Given the description of an element on the screen output the (x, y) to click on. 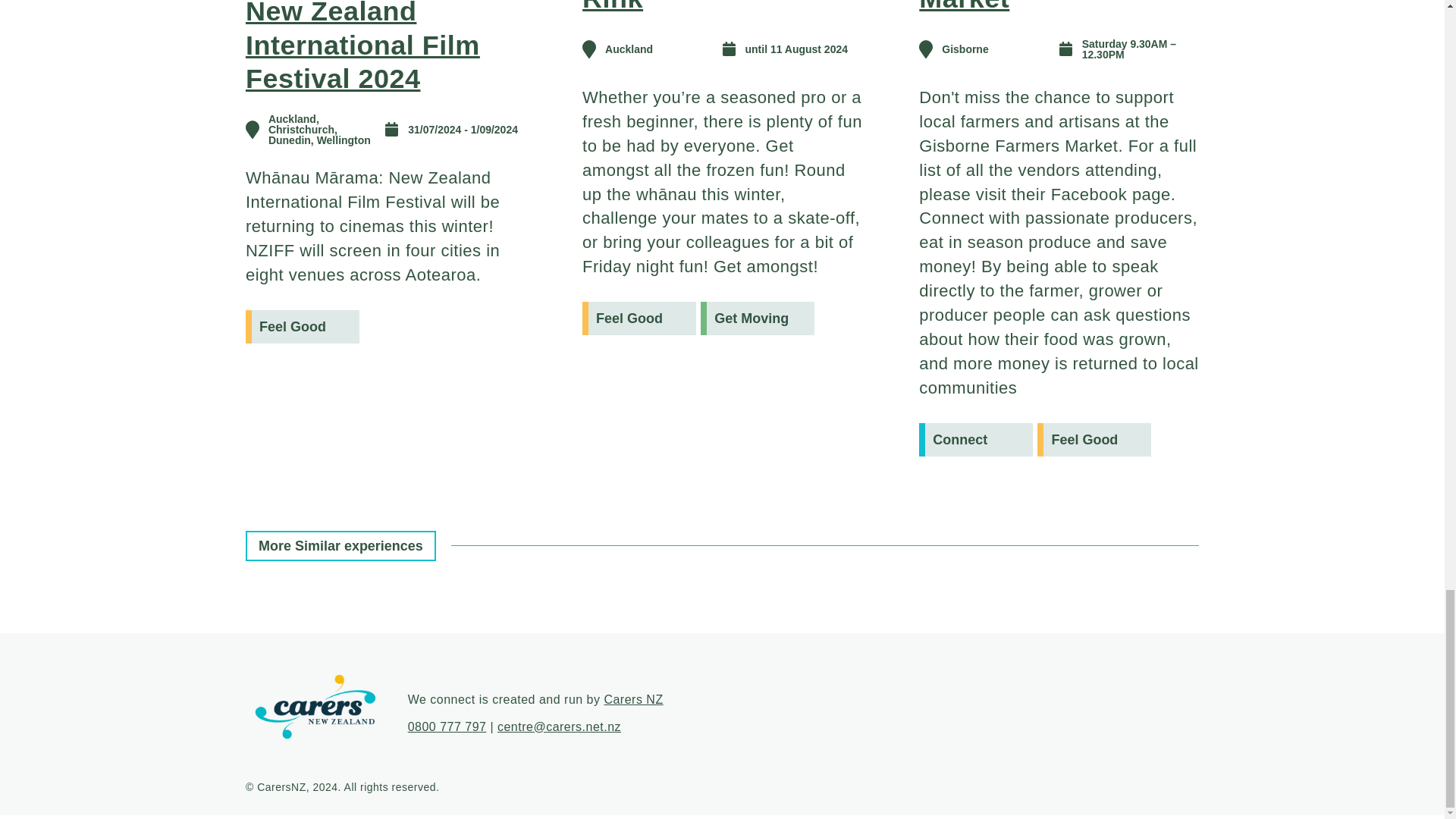
Feel Good (638, 318)
Aotea Square Ice Rink (695, 6)
Gisborne Farmers Market (1039, 6)
Permanent Link to Gisborne Farmers Market (1039, 6)
Permanent Link to Aotea Square Ice Rink (695, 6)
Feel Good (302, 326)
Feel Good (1093, 439)
More Similar experiences (340, 545)
0800 777 797 (446, 726)
Connect (975, 439)
